Given the description of an element on the screen output the (x, y) to click on. 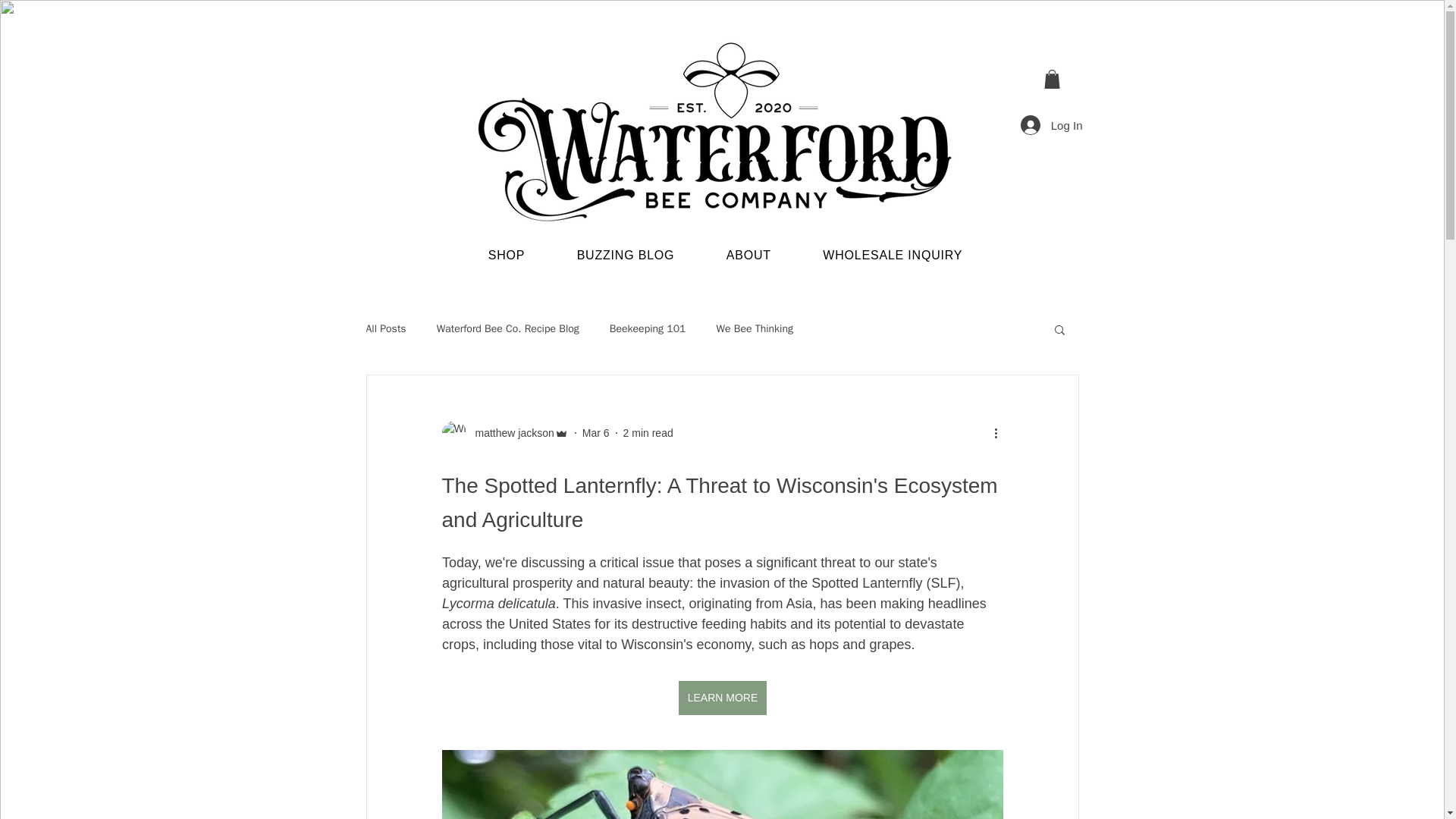
Waterford Bee Co. Recipe Blog (507, 328)
2 min read (647, 431)
ABOUT (748, 255)
Log In (1051, 124)
We Bee Thinking (754, 328)
LEARN MORE (722, 697)
All Posts (385, 328)
matthew jackson (509, 432)
SHOP (506, 255)
WHOLESALE INQUIRY (892, 255)
Mar 6 (596, 431)
matthew jackson (504, 432)
BUZZING BLOG (625, 255)
Beekeeping 101 (647, 328)
